Given the description of an element on the screen output the (x, y) to click on. 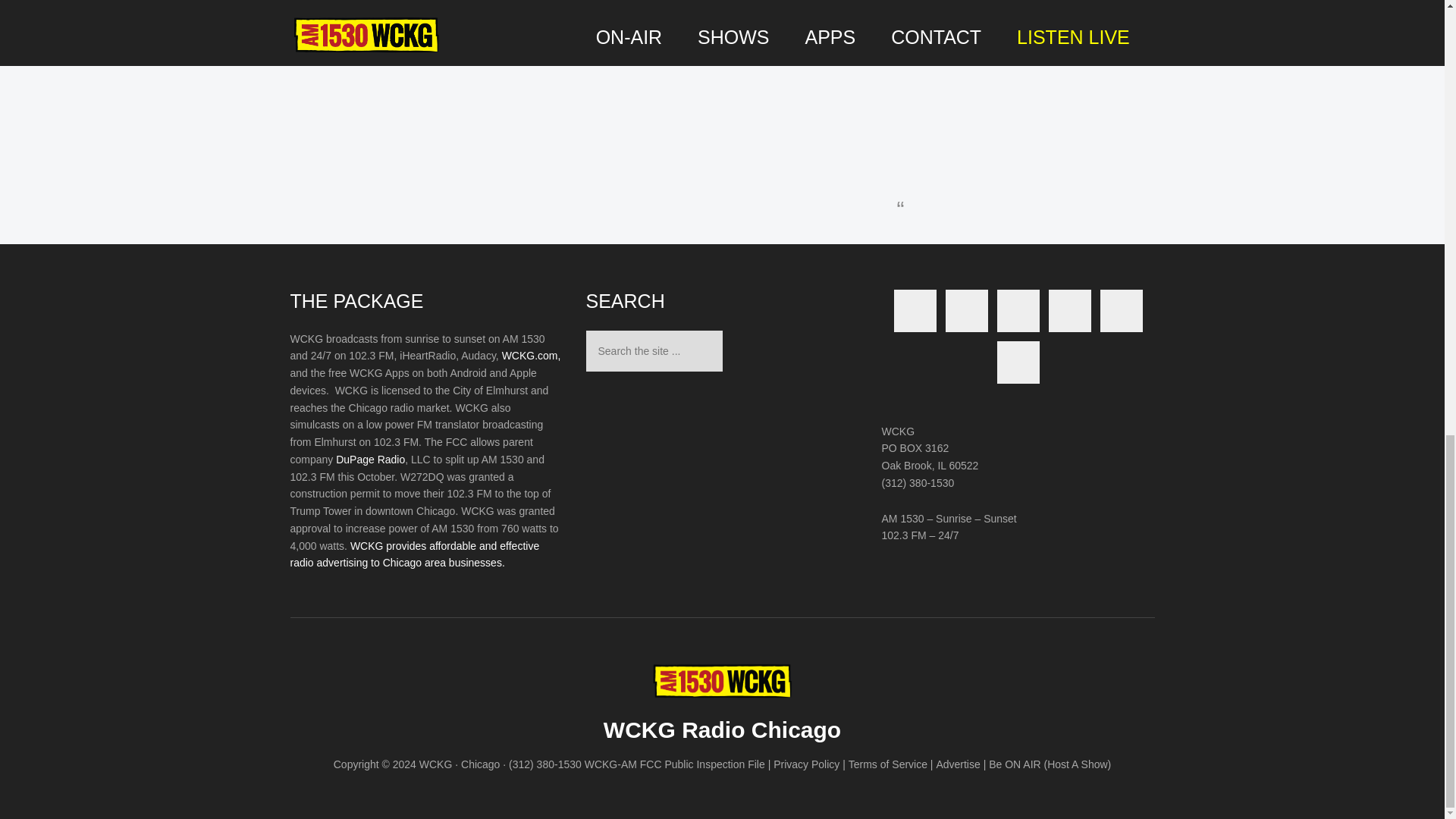
Page 1 (425, 450)
